Given the description of an element on the screen output the (x, y) to click on. 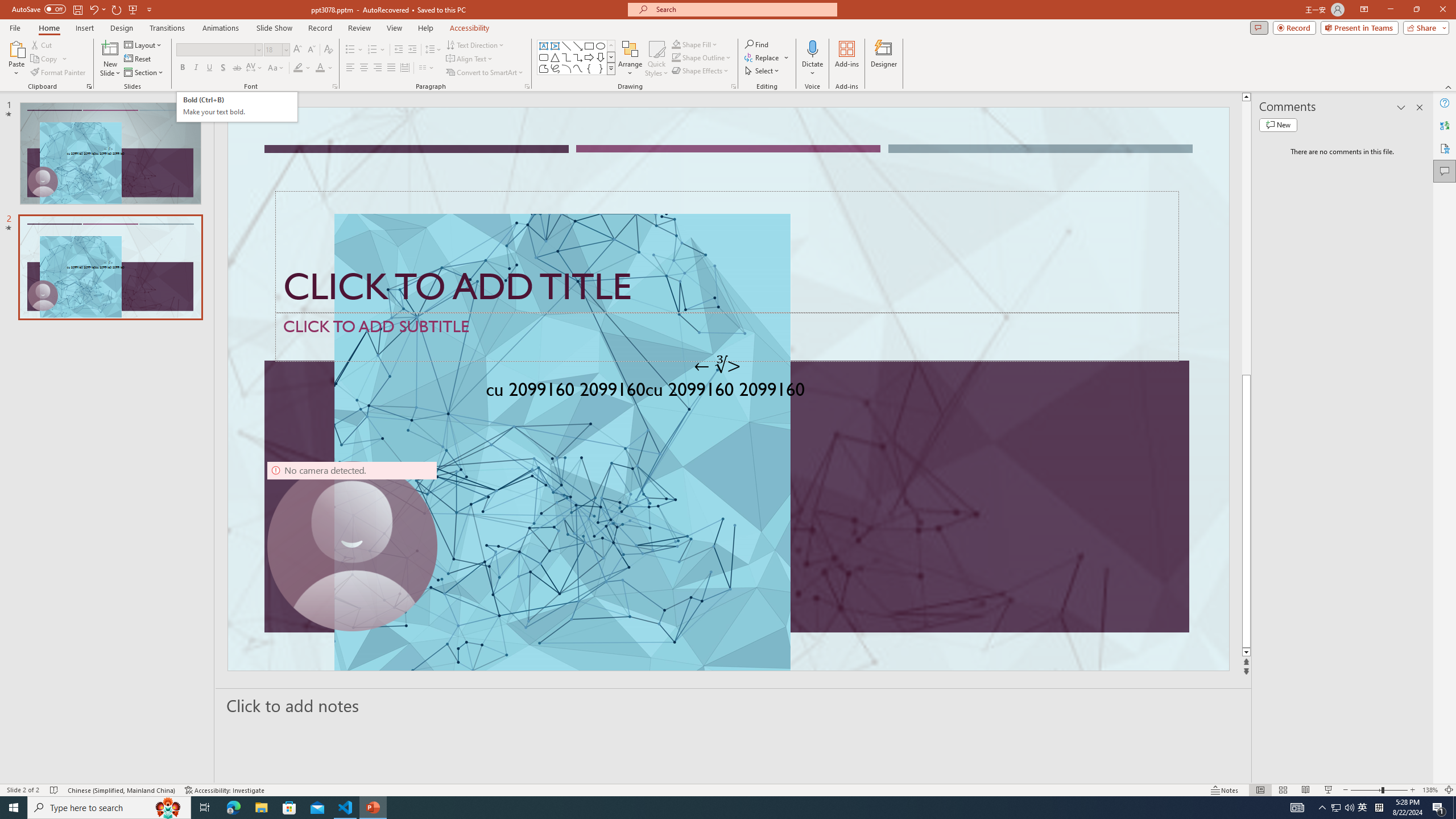
Curve (577, 68)
Clear Formatting (327, 49)
From Beginning (133, 9)
Present in Teams (1359, 27)
Font Size (276, 49)
Copy (49, 58)
Replace... (767, 56)
Help (1444, 102)
Rectangle: Rounded Corners (543, 57)
Bullets (349, 49)
Section (144, 72)
